Given the description of an element on the screen output the (x, y) to click on. 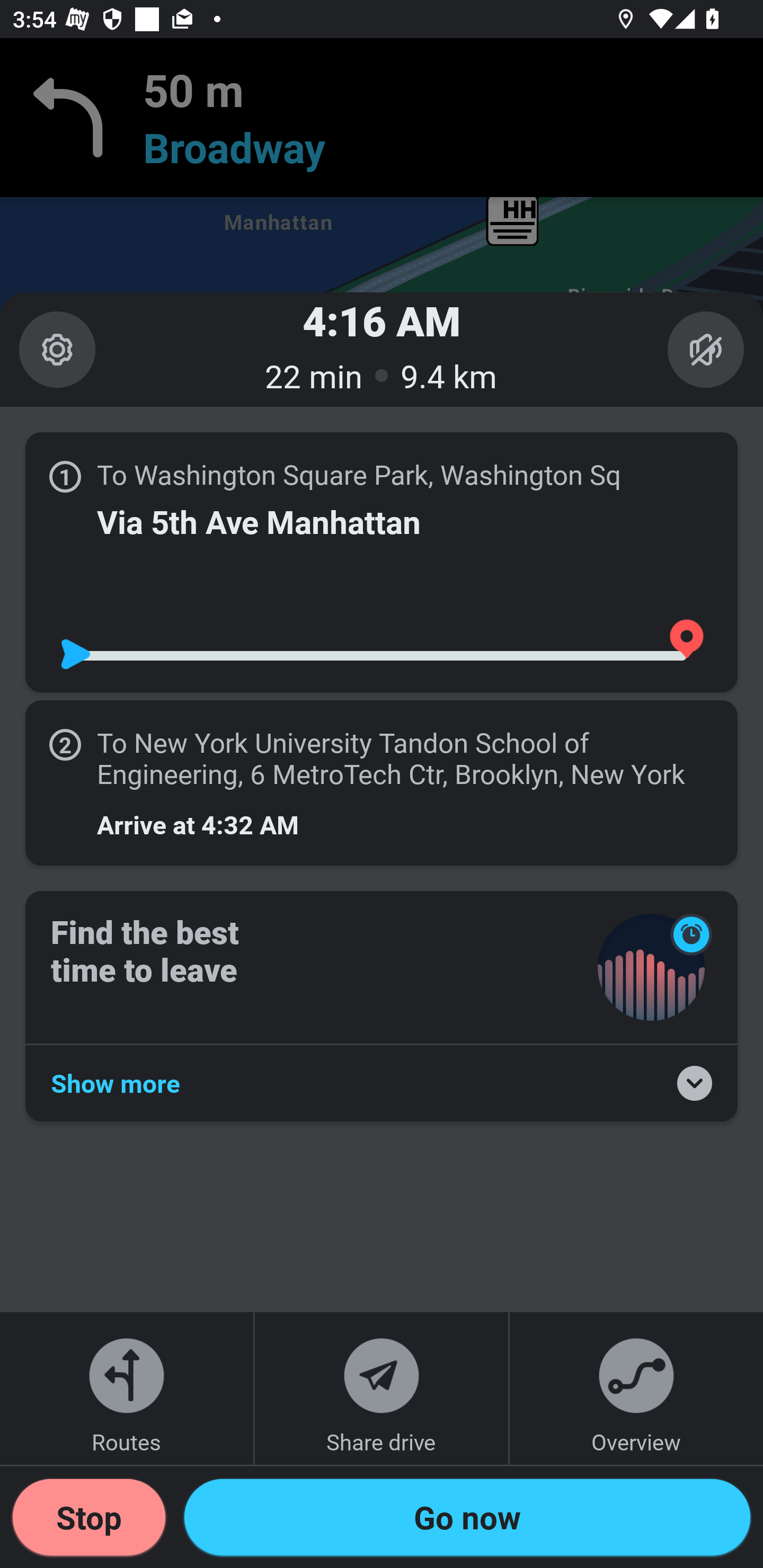
50 m Broadway (381, 117)
4:16 AM 22 min 9.4 km (381, 348)
Find the best time to leave Show more (381, 1005)
Routes (126, 1388)
Share drive (381, 1388)
Overview (636, 1388)
Stop (88, 1516)
ETA_DRAWER_GO_BUTTON Go now (466, 1516)
